Given the description of an element on the screen output the (x, y) to click on. 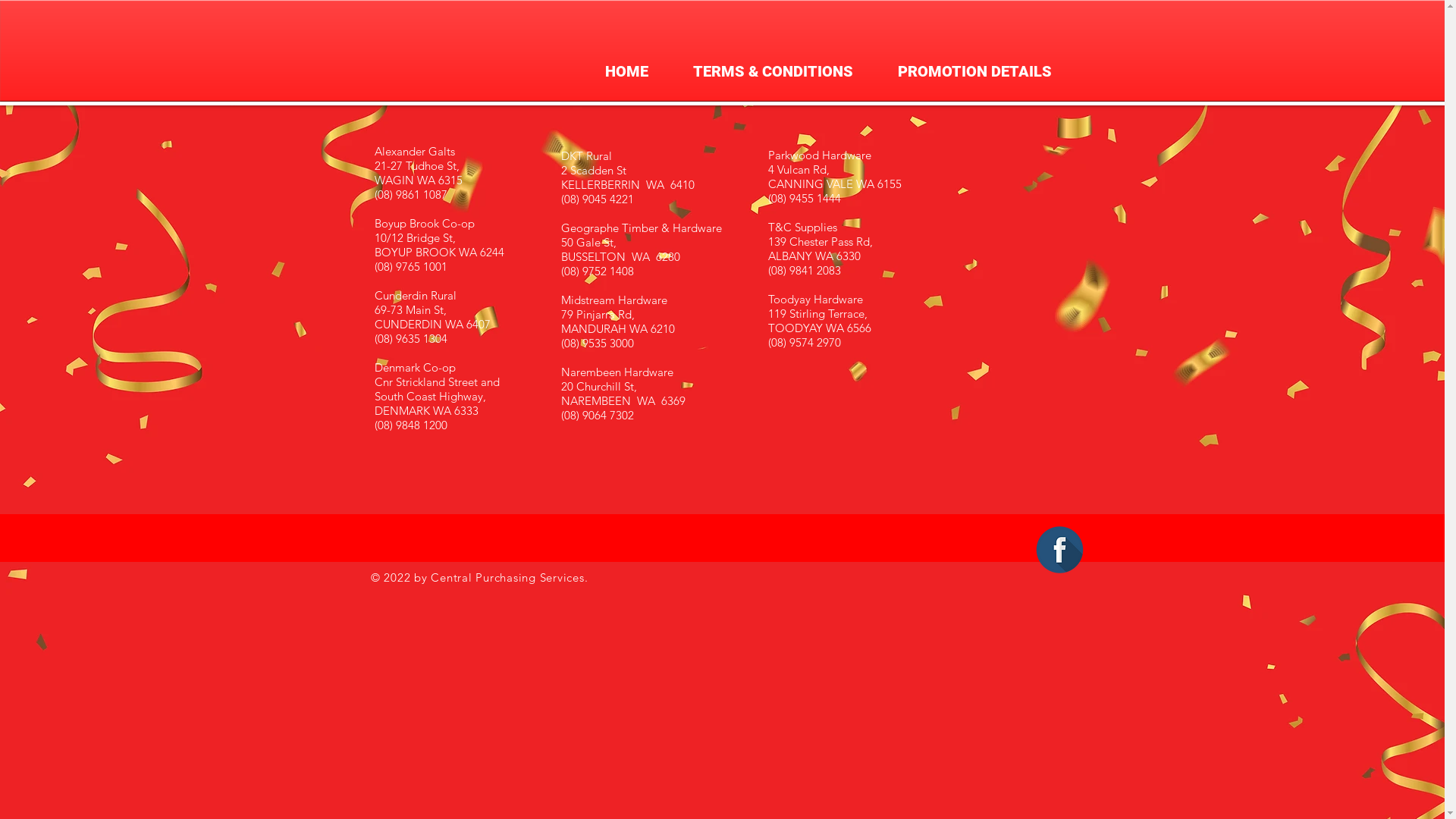
TERMS & CONDITIONS Element type: text (772, 71)
PROMOTION DETAILS Element type: text (974, 71)
HOME Element type: text (626, 71)
